Given the description of an element on the screen output the (x, y) to click on. 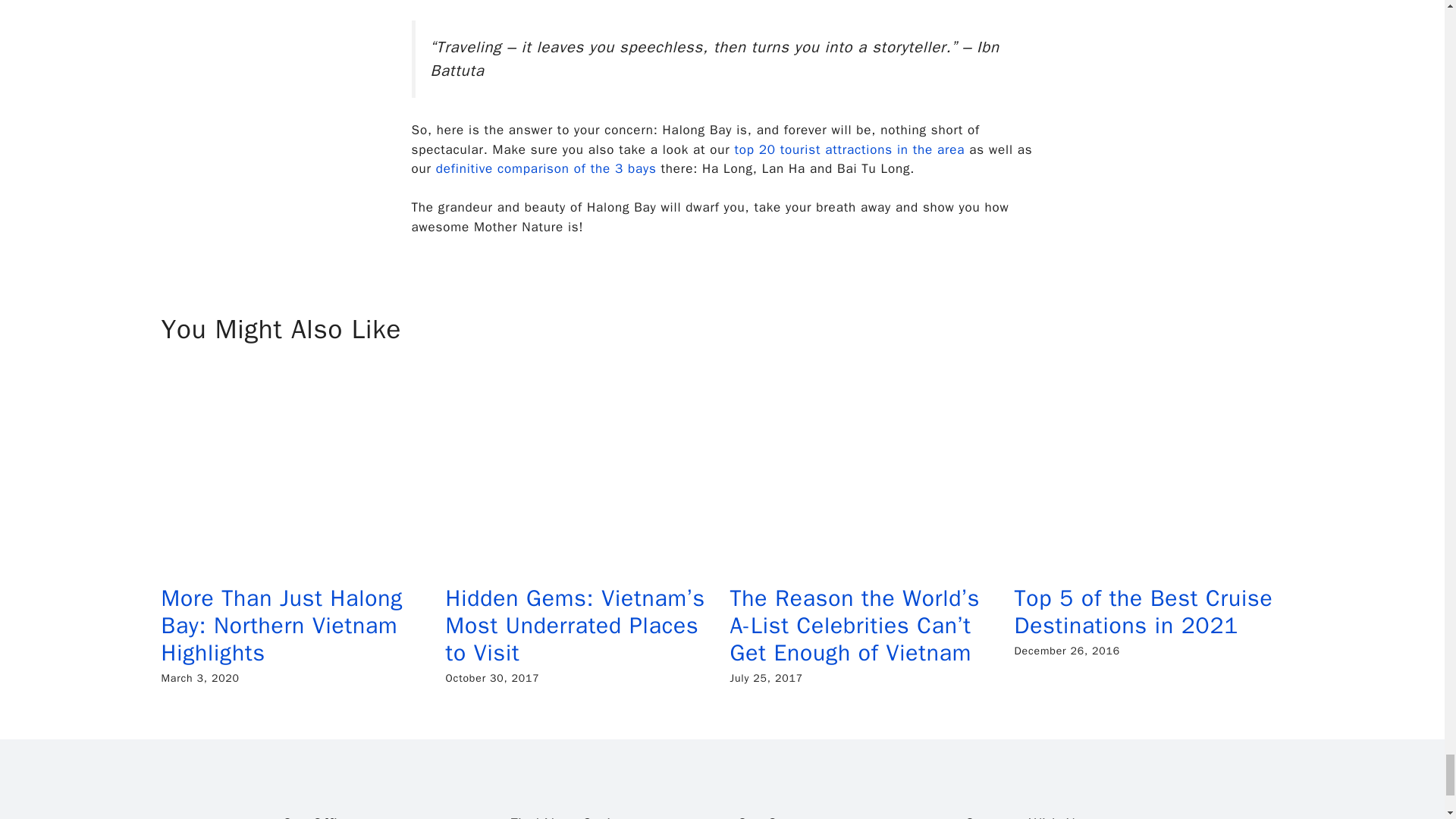
HLH-logo (357, 782)
